Given the description of an element on the screen output the (x, y) to click on. 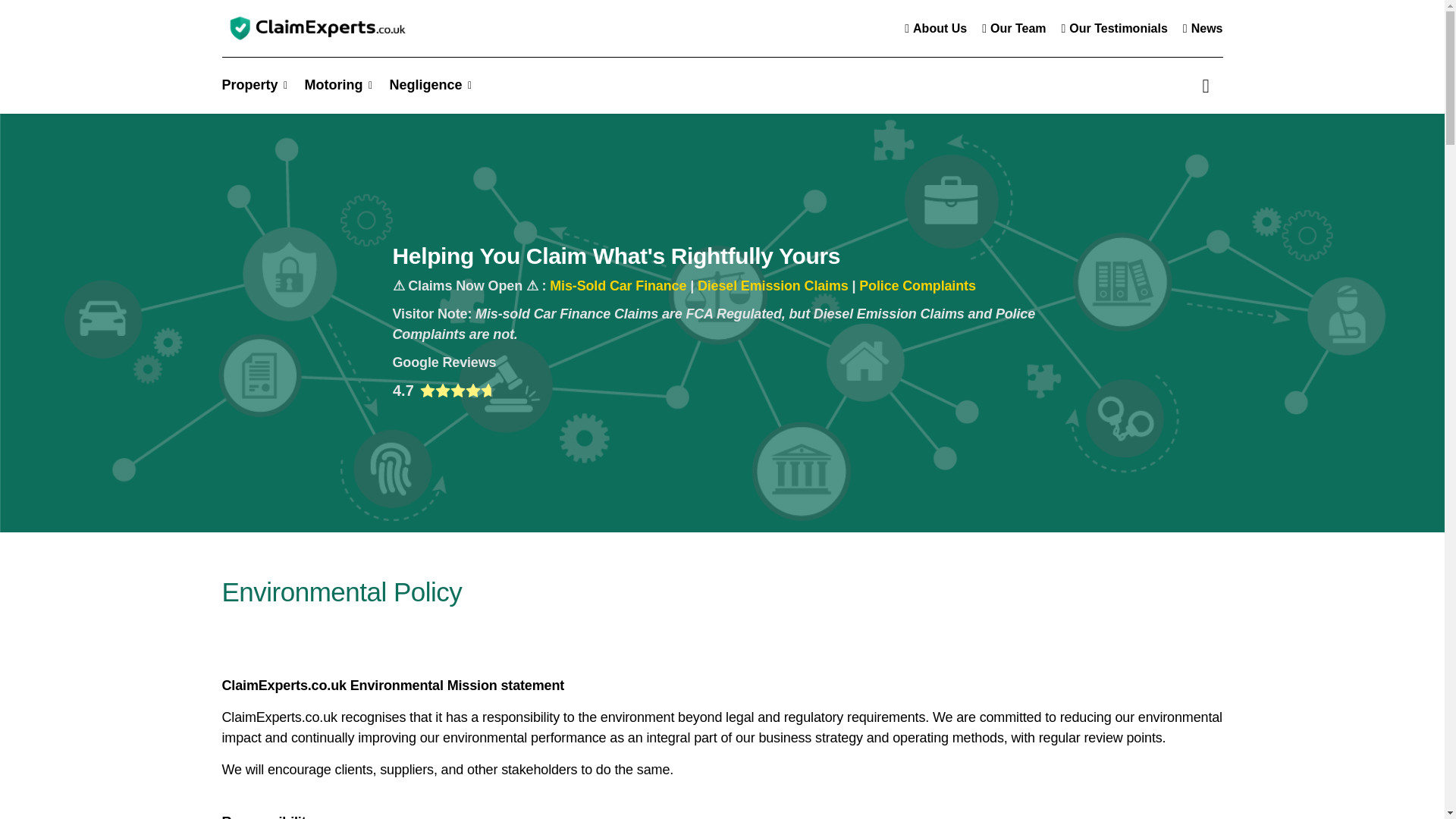
ClaimExperts (315, 28)
About Us (935, 28)
Our Team (1013, 28)
Property (252, 84)
Our Testimonials (1114, 28)
News (1202, 28)
Mis-sold PCP Car Finance Claims (617, 284)
Police Complaints (917, 284)
Diesel Emissions Claims (772, 284)
Mis-Sold Car Finance (617, 284)
